Given the description of an element on the screen output the (x, y) to click on. 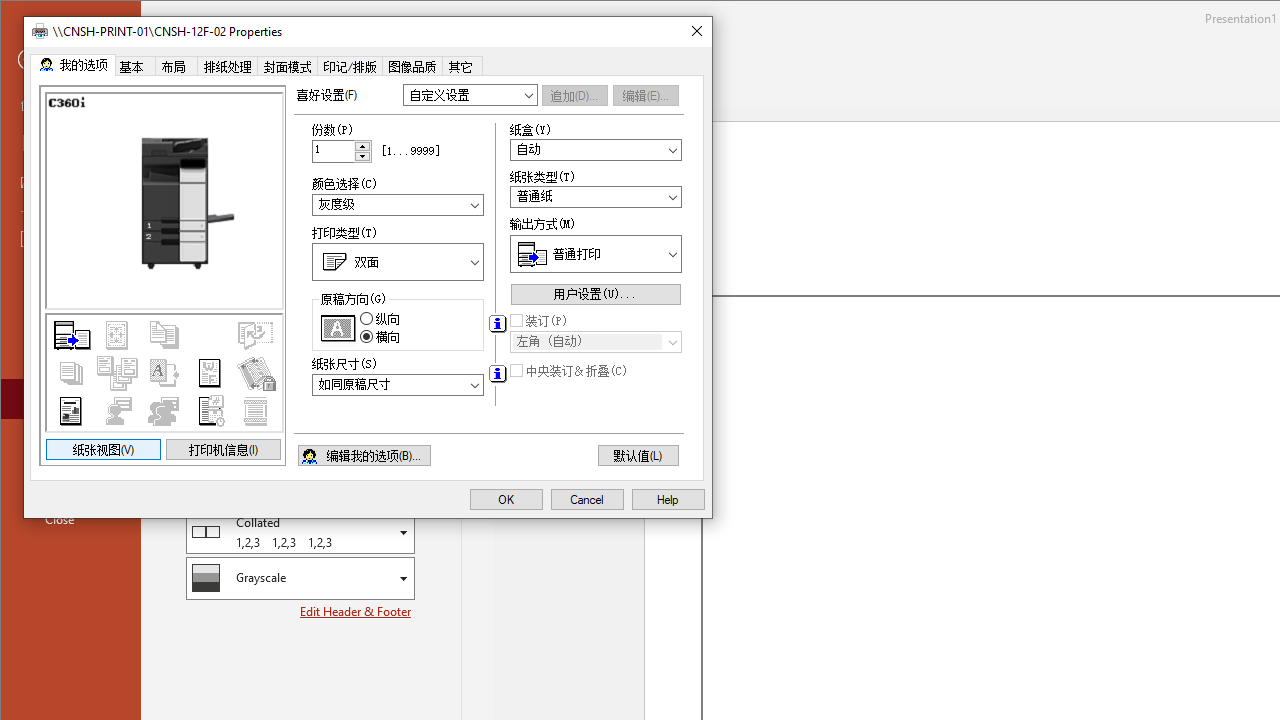
AutomationID: 2197 (497, 323)
AutomationID: 1199 (162, 275)
Color/Grayscale (299, 578)
AutomationID: 1040 (397, 384)
